Given the description of an element on the screen output the (x, y) to click on. 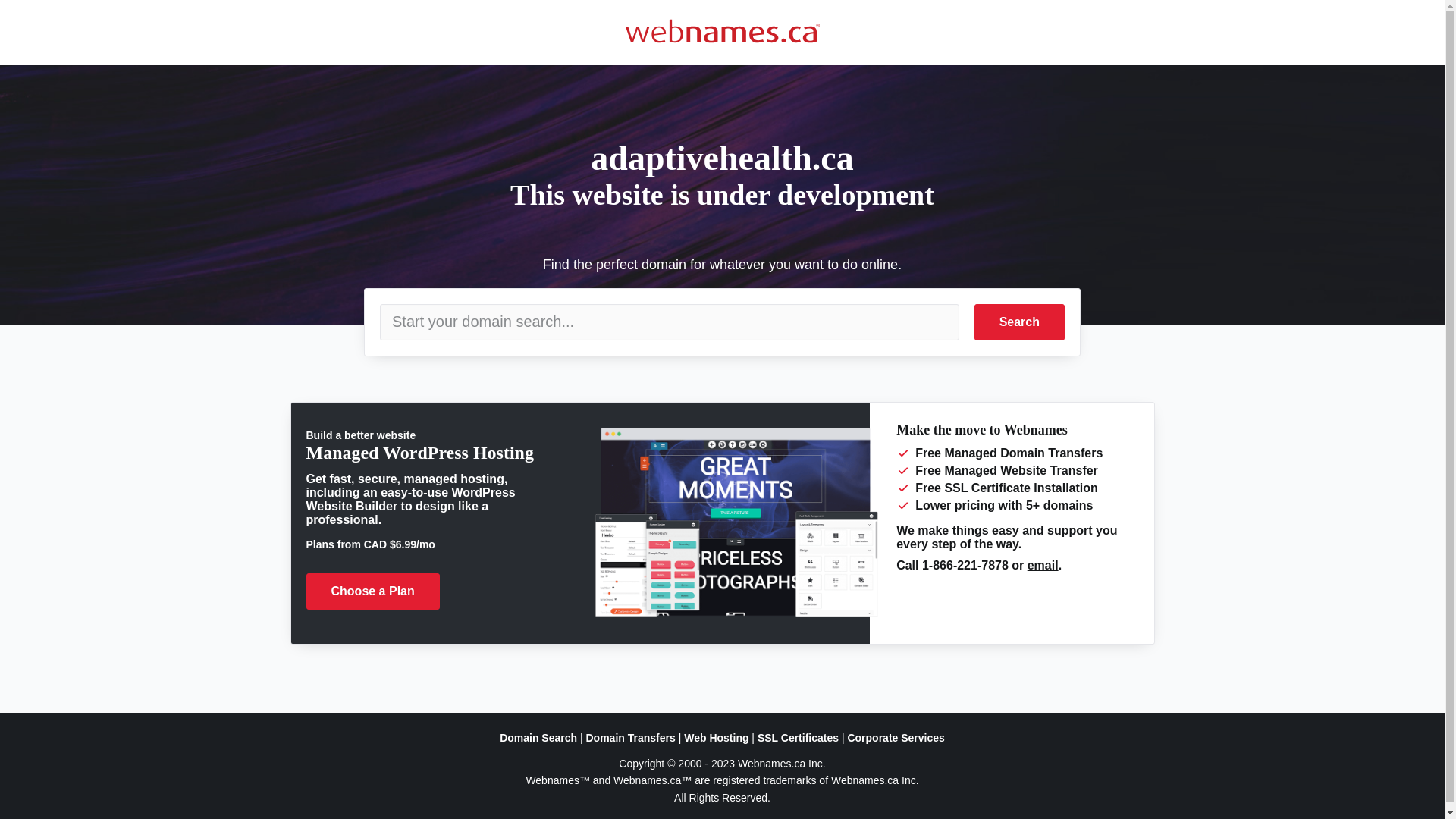
Domain Transfers Element type: text (629, 737)
SSL Certificates Element type: text (797, 737)
Web Hosting Element type: text (716, 737)
Corporate Services Element type: text (895, 737)
Domain Search Element type: text (538, 737)
Choose a Plan Element type: text (372, 591)
1-866-221-7878 Element type: text (965, 564)
Search Element type: text (1019, 322)
email Element type: text (1042, 564)
